Given the description of an element on the screen output the (x, y) to click on. 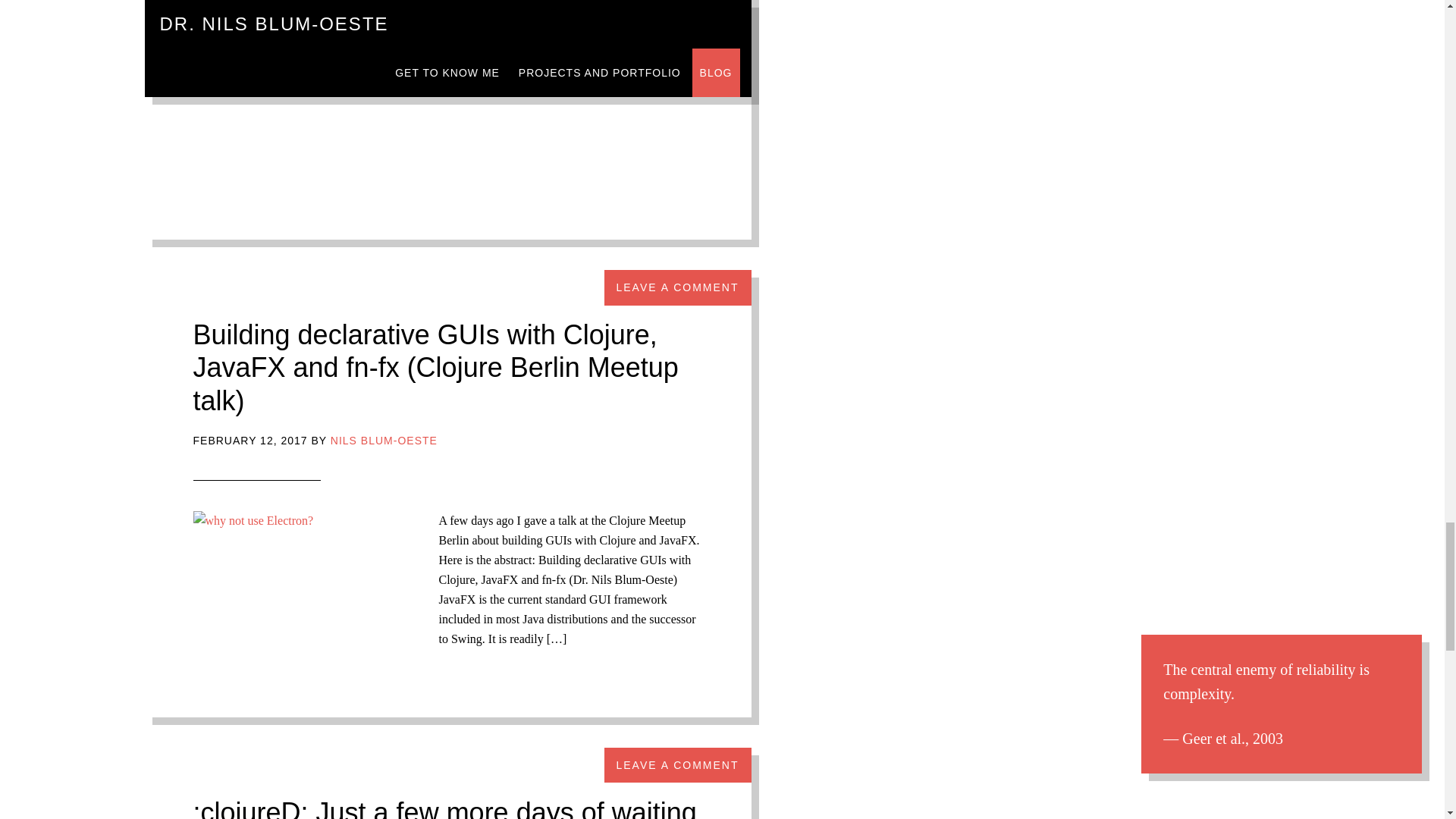
NILS BLUM-OESTE (384, 440)
:clojureD: Just a few more days of waiting (443, 807)
LEAVE A COMMENT (677, 287)
LEAVE A COMMENT (677, 764)
